Given the description of an element on the screen output the (x, y) to click on. 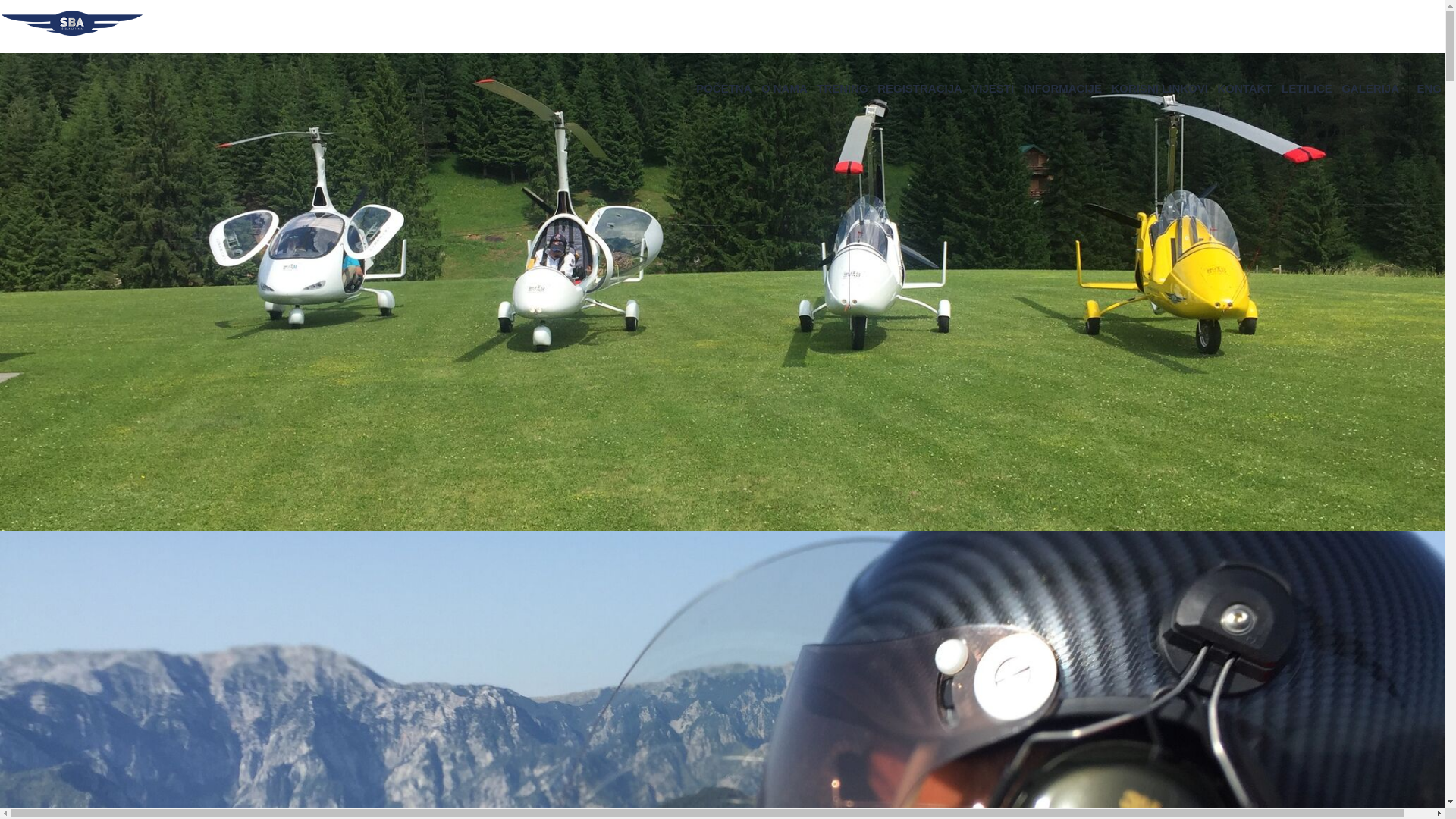
ENG Element type: text (1428, 87)
O NAMA Element type: text (784, 87)
VIJESTI Element type: text (992, 87)
KORISNI LINKOVI Element type: text (1159, 87)
TRENING Element type: text (842, 87)
GALERIJA Element type: text (1370, 87)
KONTAKT Element type: text (1244, 87)
INFORMACIJE Element type: text (1062, 87)
LETILICE Element type: text (1306, 87)
REGISTRACIJA Element type: text (919, 87)
